Given the description of an element on the screen output the (x, y) to click on. 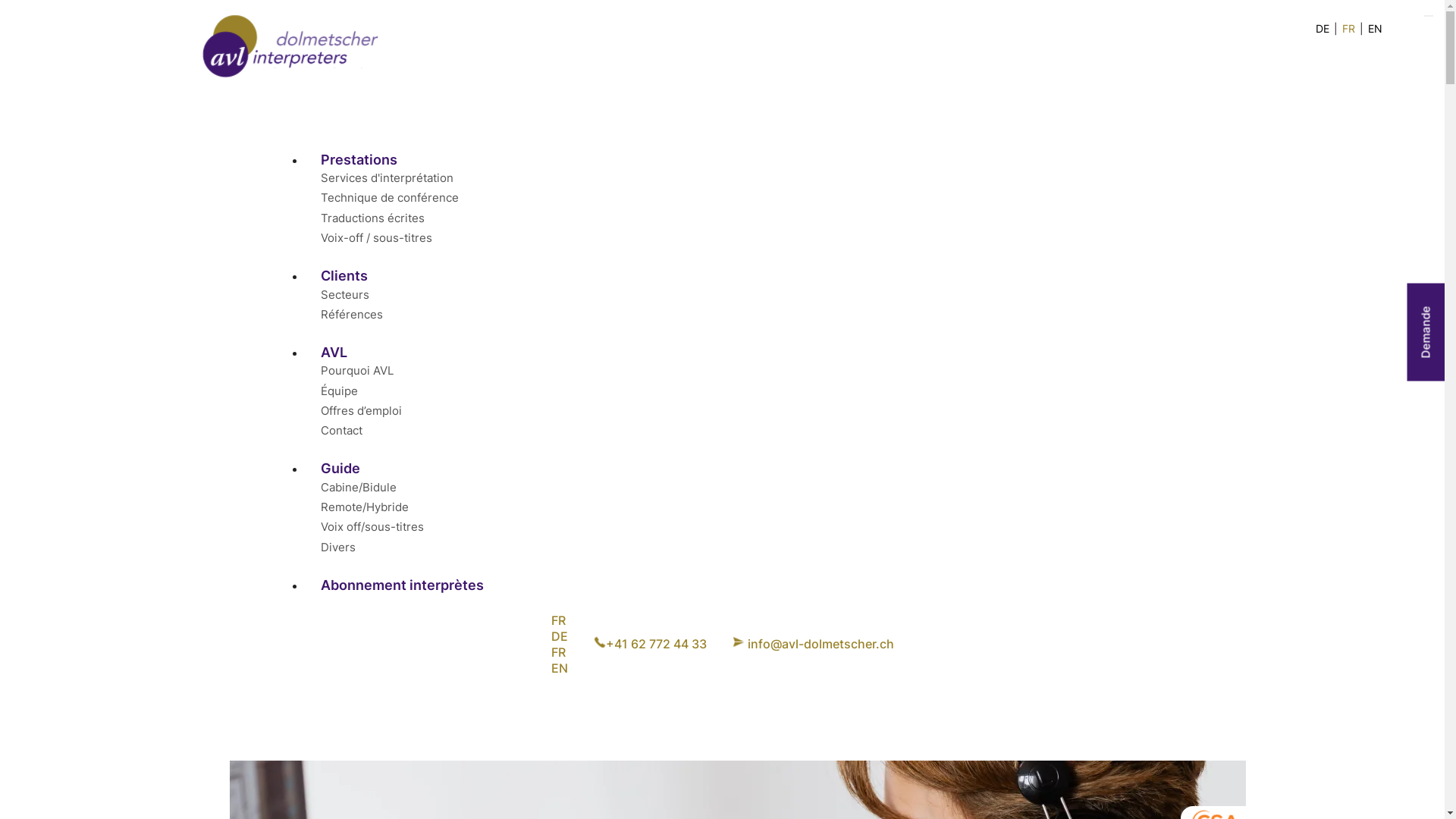
info@avl-dolmetscher.ch Element type: text (813, 644)
Remote/Hybride Element type: text (363, 507)
Cabine/Bidule Element type: text (357, 487)
AVL Element type: text (333, 354)
FR Element type: text (558, 652)
FR Element type: text (558, 620)
Voix off/sous-titres Element type: text (371, 526)
Voix-off / sous-titres Element type: text (375, 237)
Pourquoi AVL Element type: text (356, 370)
+41 62 772 44 33 Element type: text (649, 644)
DE Element type: text (1322, 28)
Clients Element type: text (343, 277)
Prestations Element type: text (358, 161)
EN Element type: text (1375, 28)
DE Element type: text (558, 636)
Secteurs Element type: text (344, 294)
Guide Element type: text (339, 470)
Contact Element type: text (340, 430)
FR Element type: text (1348, 28)
Divers Element type: text (337, 547)
EN Element type: text (558, 668)
